Given the description of an element on the screen output the (x, y) to click on. 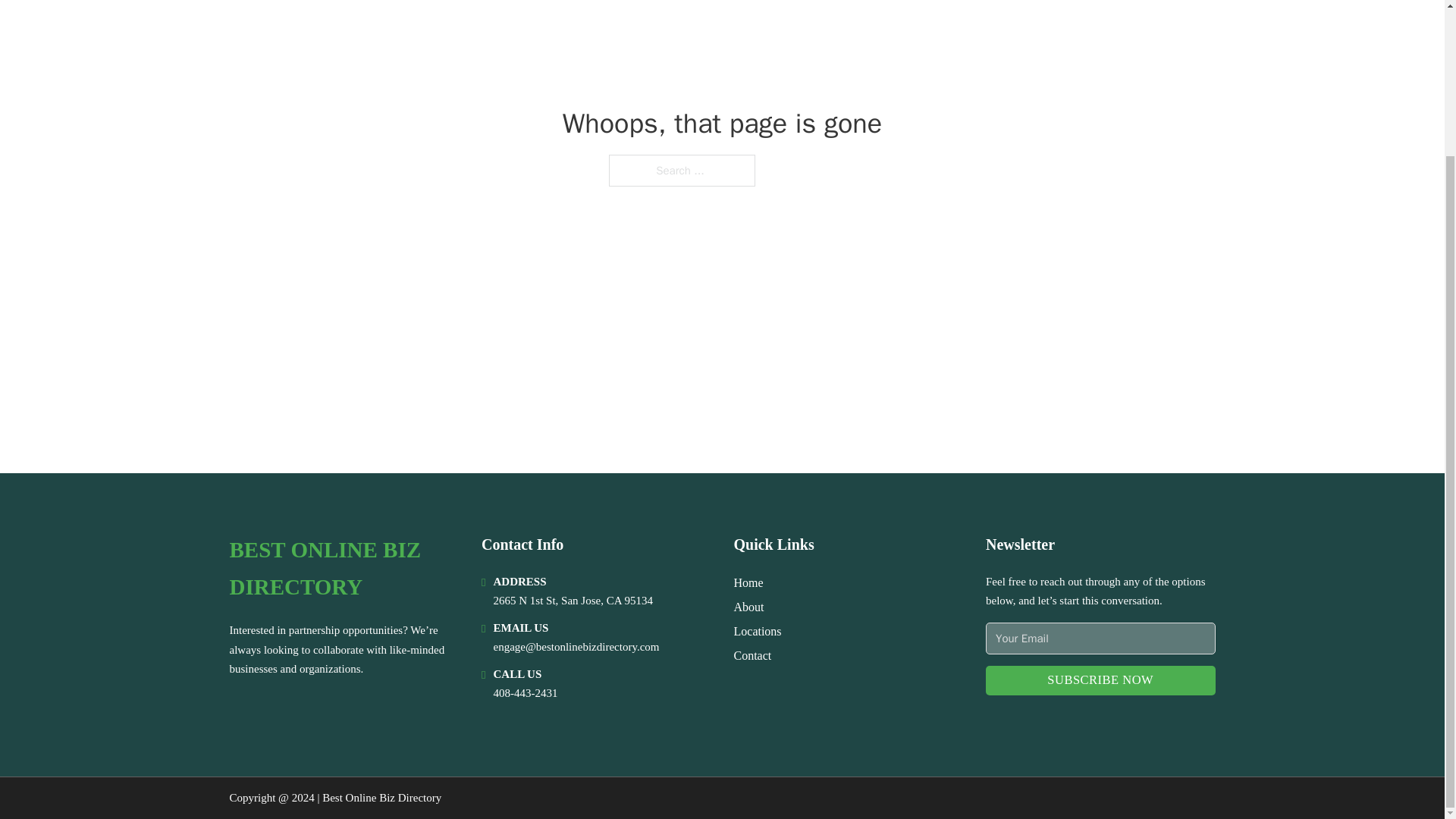
BEST ONLINE BIZ DIRECTORY (343, 568)
408-443-2431 (525, 693)
SUBSCRIBE NOW (1100, 680)
Home (747, 582)
About (748, 607)
Locations (757, 630)
Contact (752, 655)
